Given the description of an element on the screen output the (x, y) to click on. 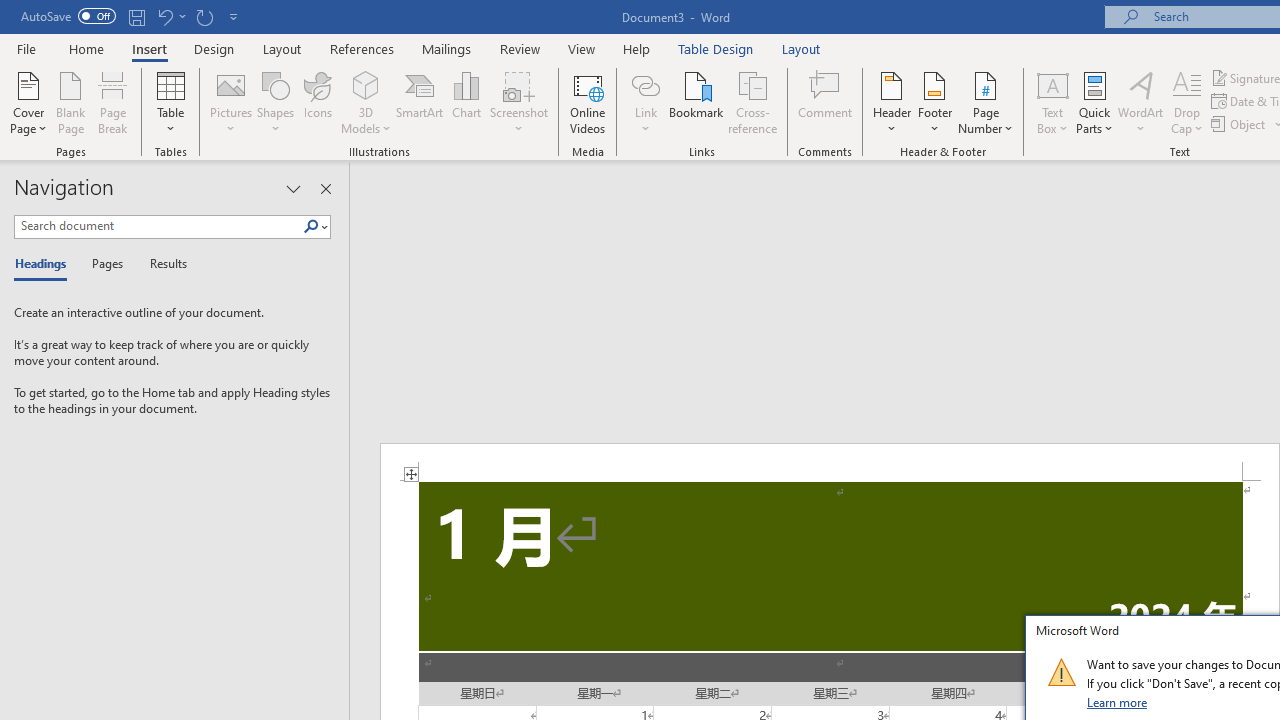
Comment (825, 102)
Pages (105, 264)
Cross-reference... (752, 102)
Results (161, 264)
Table (170, 102)
Header -Section 1- (830, 461)
Online Videos... (588, 102)
3D Models (366, 102)
